Given the description of an element on the screen output the (x, y) to click on. 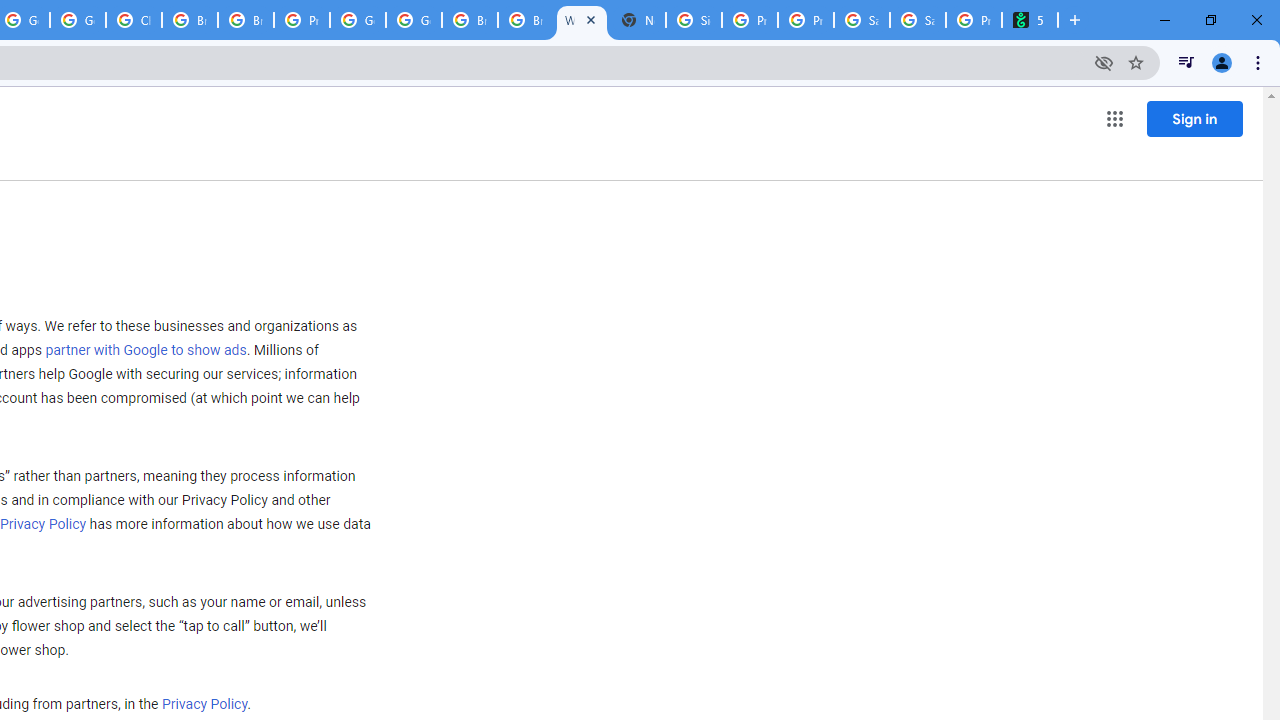
Google Cloud Platform (413, 20)
Control your music, videos, and more (1185, 62)
Browse Chrome as a guest - Computer - Google Chrome Help (525, 20)
Browse Chrome as a guest - Computer - Google Chrome Help (245, 20)
Sign in - Google Accounts (693, 20)
